Given the description of an element on the screen output the (x, y) to click on. 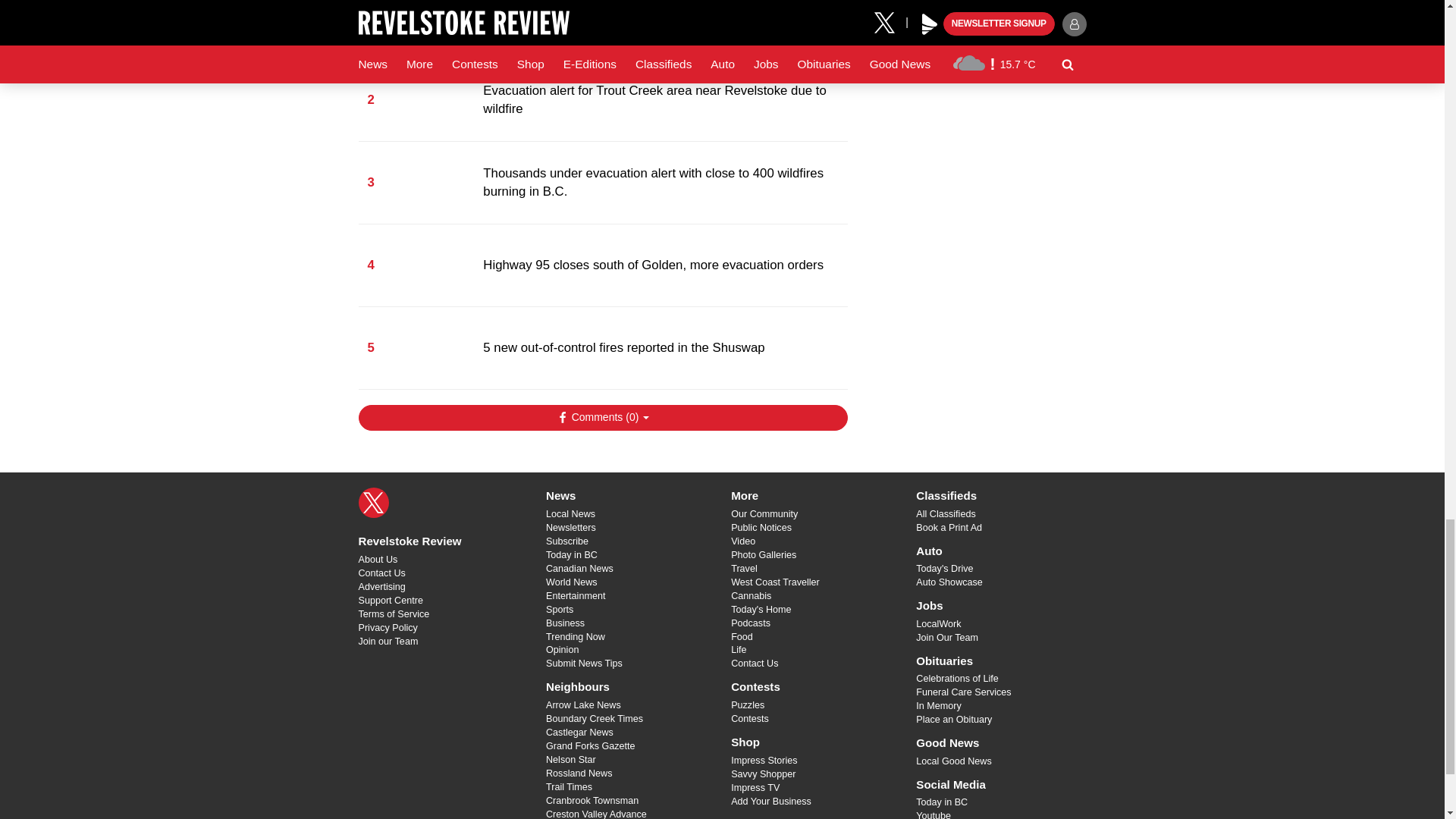
X (373, 502)
Show Comments (602, 417)
